Given the description of an element on the screen output the (x, y) to click on. 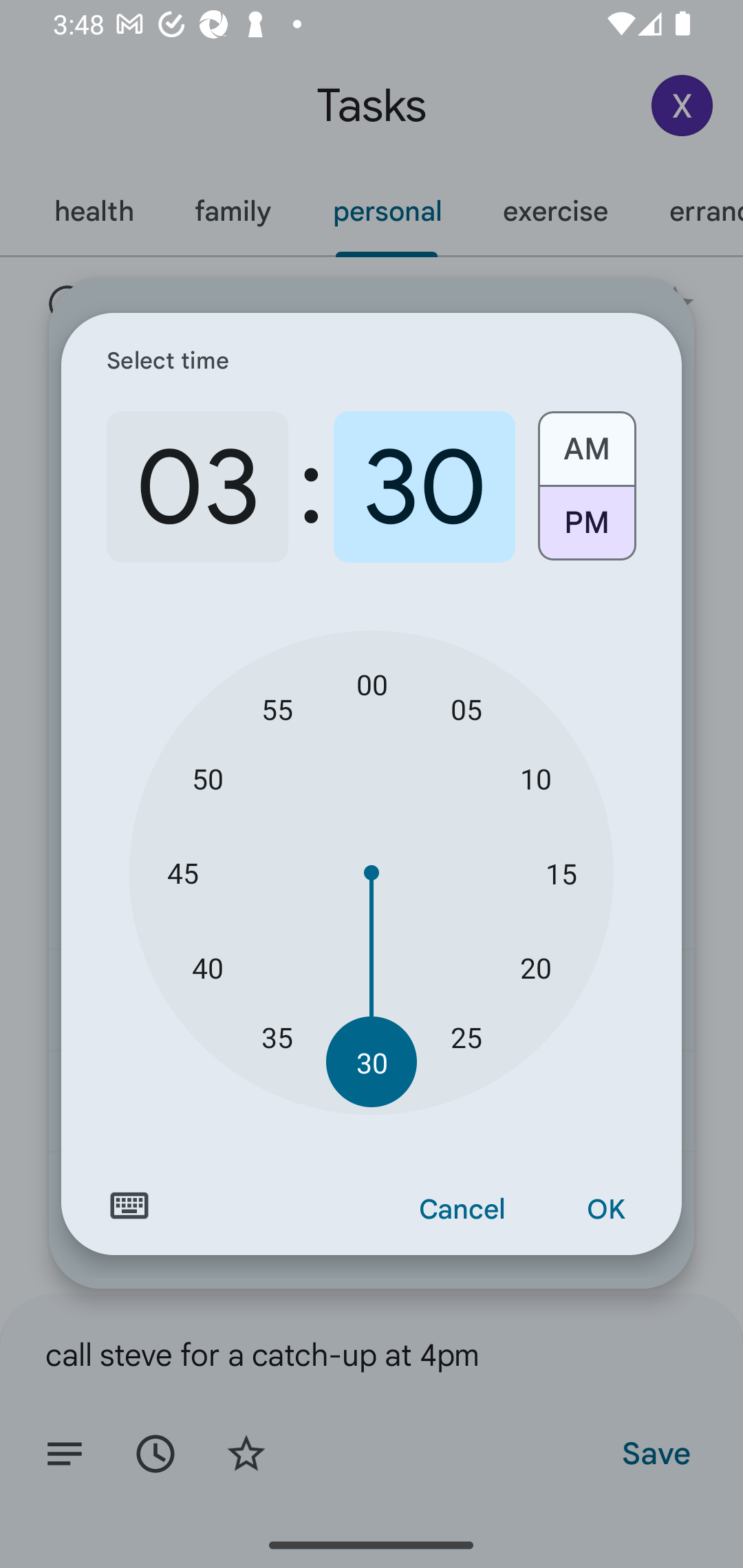
AM (586, 441)
03 3 o'clock (197, 486)
30 30 minutes (424, 486)
PM (586, 529)
00 00 minutes (371, 683)
55 55 minutes (276, 708)
05 05 minutes (466, 708)
50 50 minutes (207, 778)
10 10 minutes (535, 778)
45 45 minutes (182, 872)
15 15 minutes (561, 872)
40 40 minutes (207, 966)
20 20 minutes (535, 966)
35 35 minutes (276, 1035)
25 25 minutes (466, 1035)
30 30 minutes (371, 1062)
Switch to text input mode for the time input. (128, 1205)
Cancel (462, 1209)
OK (605, 1209)
